Given the description of an element on the screen output the (x, y) to click on. 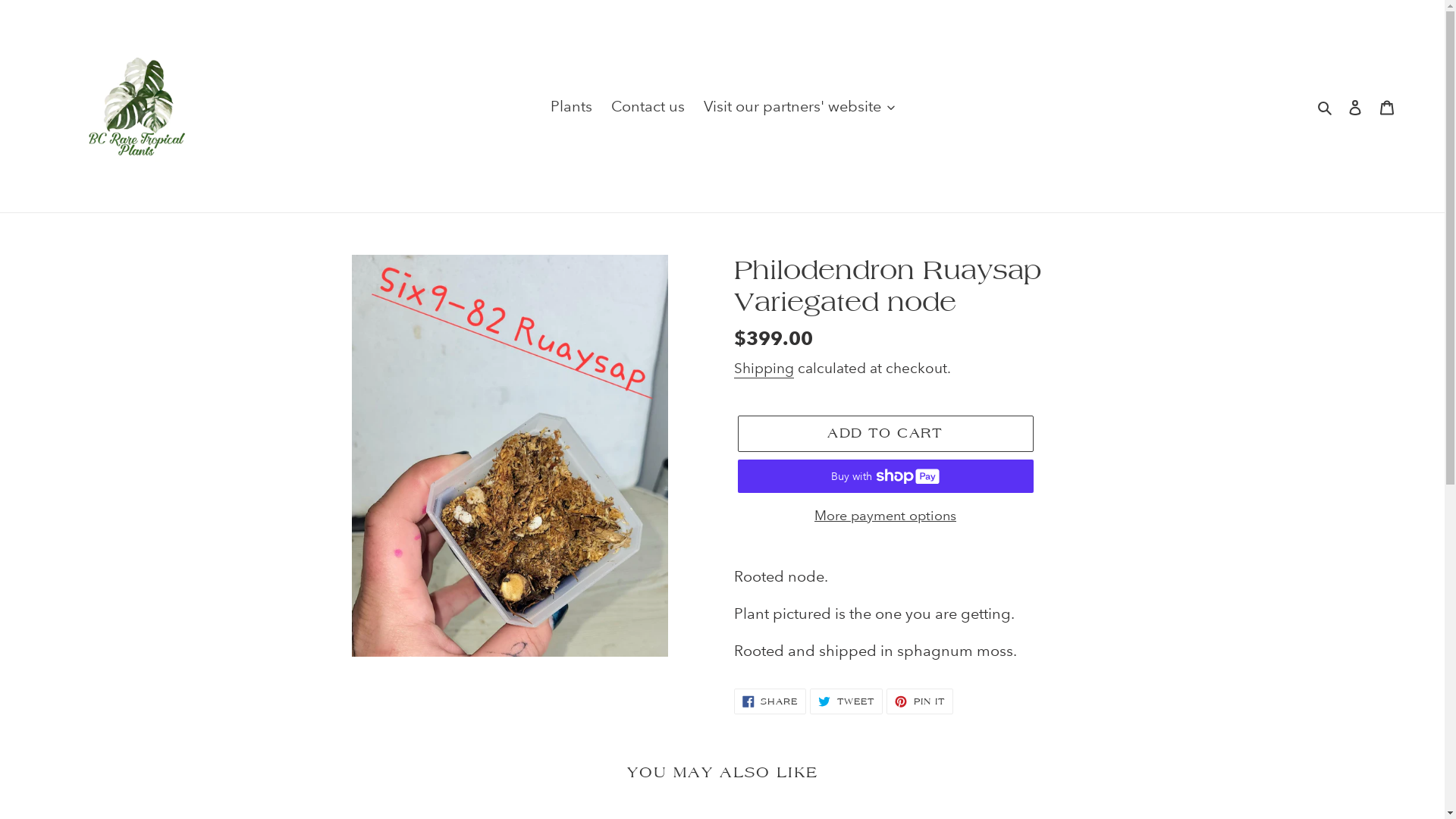
Search Element type: text (1325, 106)
Cart Element type: text (1386, 106)
SHARE
SHARE ON FACEBOOK Element type: text (770, 701)
Contact us Element type: text (647, 105)
Visit our partners' website Element type: text (799, 105)
Shipping Element type: text (763, 368)
ADD TO CART Element type: text (884, 433)
TWEET
TWEET ON TWITTER Element type: text (845, 701)
Log in Element type: text (1355, 106)
PIN IT
PIN ON PINTEREST Element type: text (919, 701)
Plants Element type: text (570, 105)
More payment options Element type: text (884, 516)
